Given the description of an element on the screen output the (x, y) to click on. 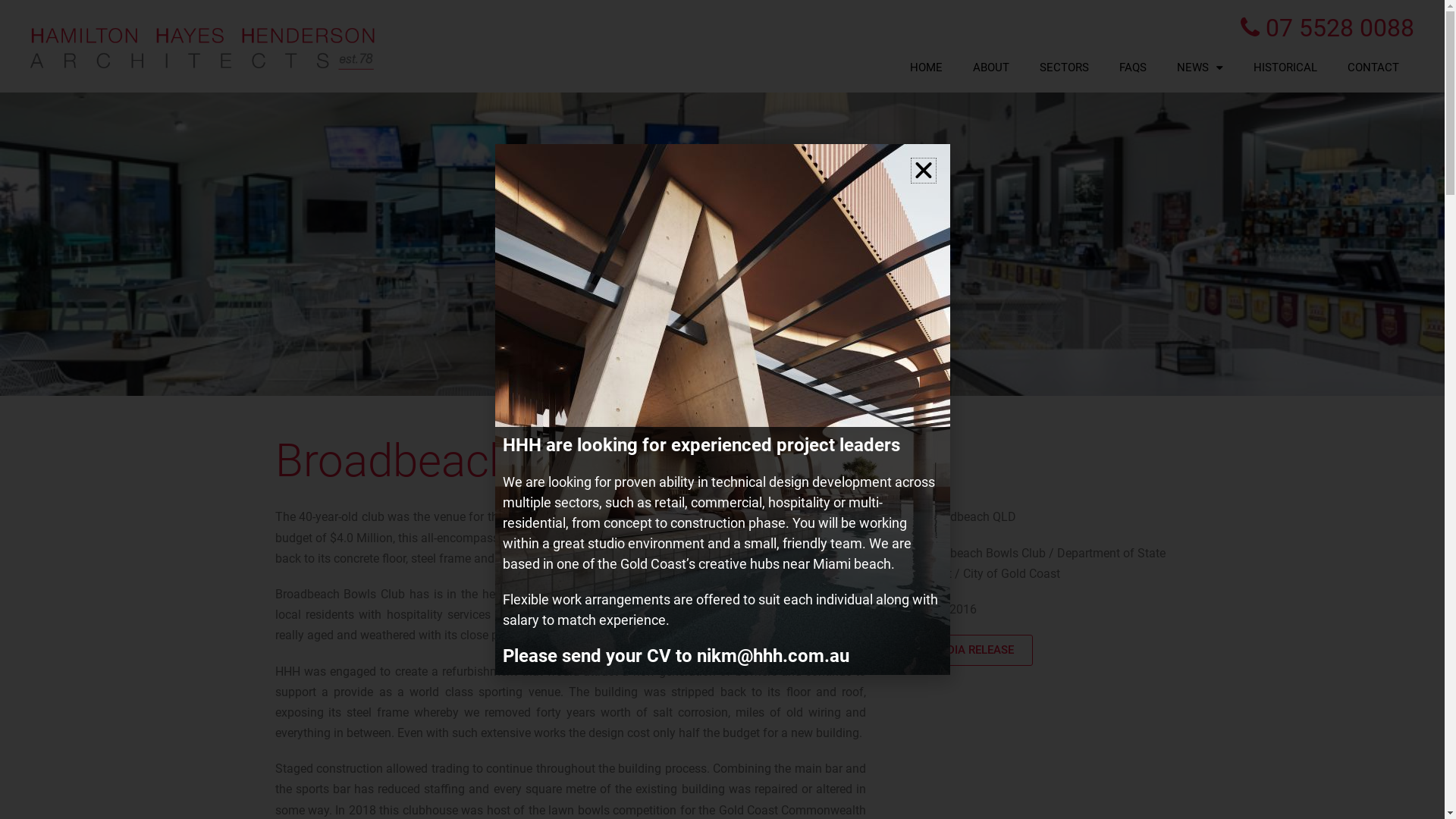
HISTORICAL Element type: text (1285, 67)
FAQS Element type: text (1132, 67)
NEWS Element type: text (1199, 67)
ABOUT Element type: text (990, 67)
SECTORS Element type: text (1064, 67)
READ MEDIA RELEASE Element type: text (956, 649)
CONTACT Element type: text (1373, 67)
HOME Element type: text (925, 67)
